Given the description of an element on the screen output the (x, y) to click on. 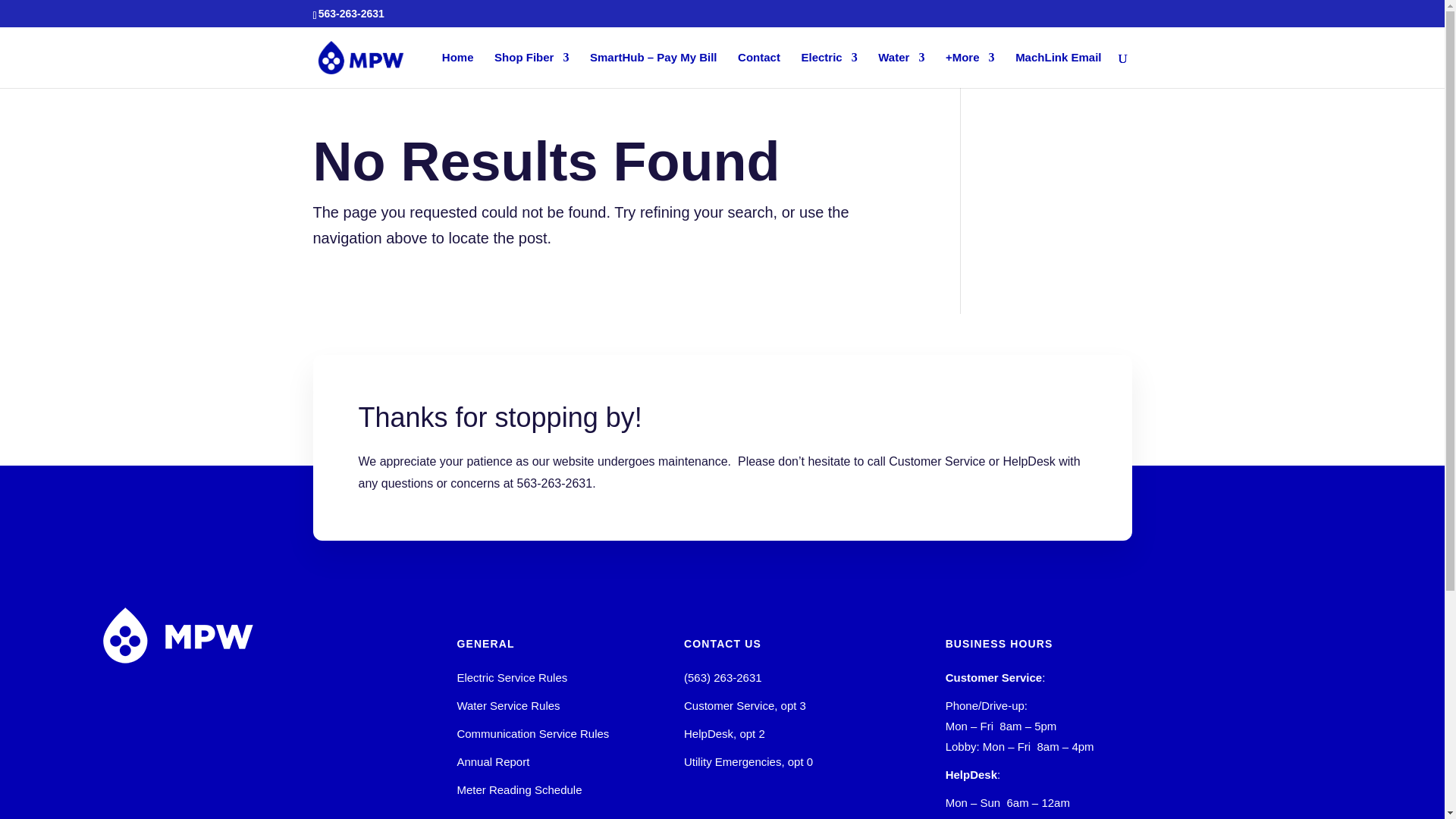
Water (900, 69)
Electric (828, 69)
Electric Service Rules (512, 676)
Home (458, 69)
Shop Fiber (532, 69)
Communication Service Rules (532, 733)
Water Service Rules (508, 705)
Contact (759, 69)
MPW Annual Report (493, 761)
mpw-horizontal-white-logo-footer (178, 635)
